Given the description of an element on the screen output the (x, y) to click on. 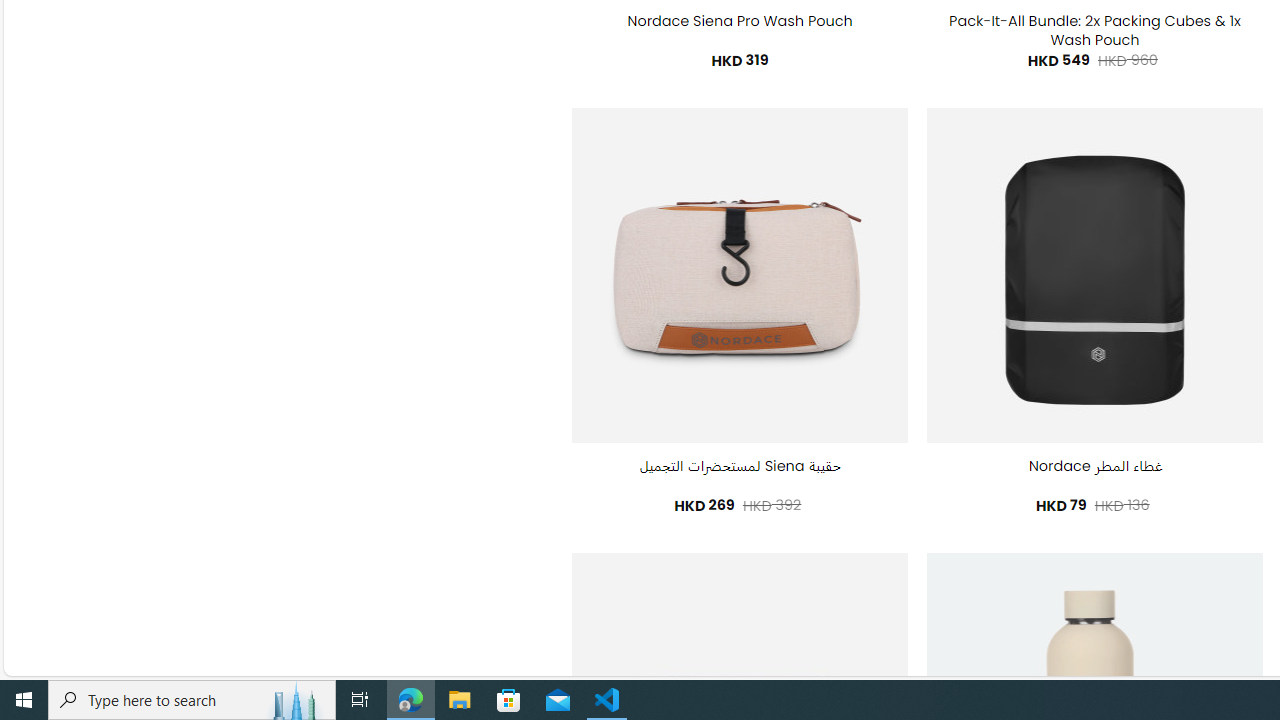
Pack-It-All Bundle: 2x Packing Cubes & 1x Wash Pouch (1094, 29)
Nordace Siena Pro Wash Pouch (739, 21)
